Given the description of an element on the screen output the (x, y) to click on. 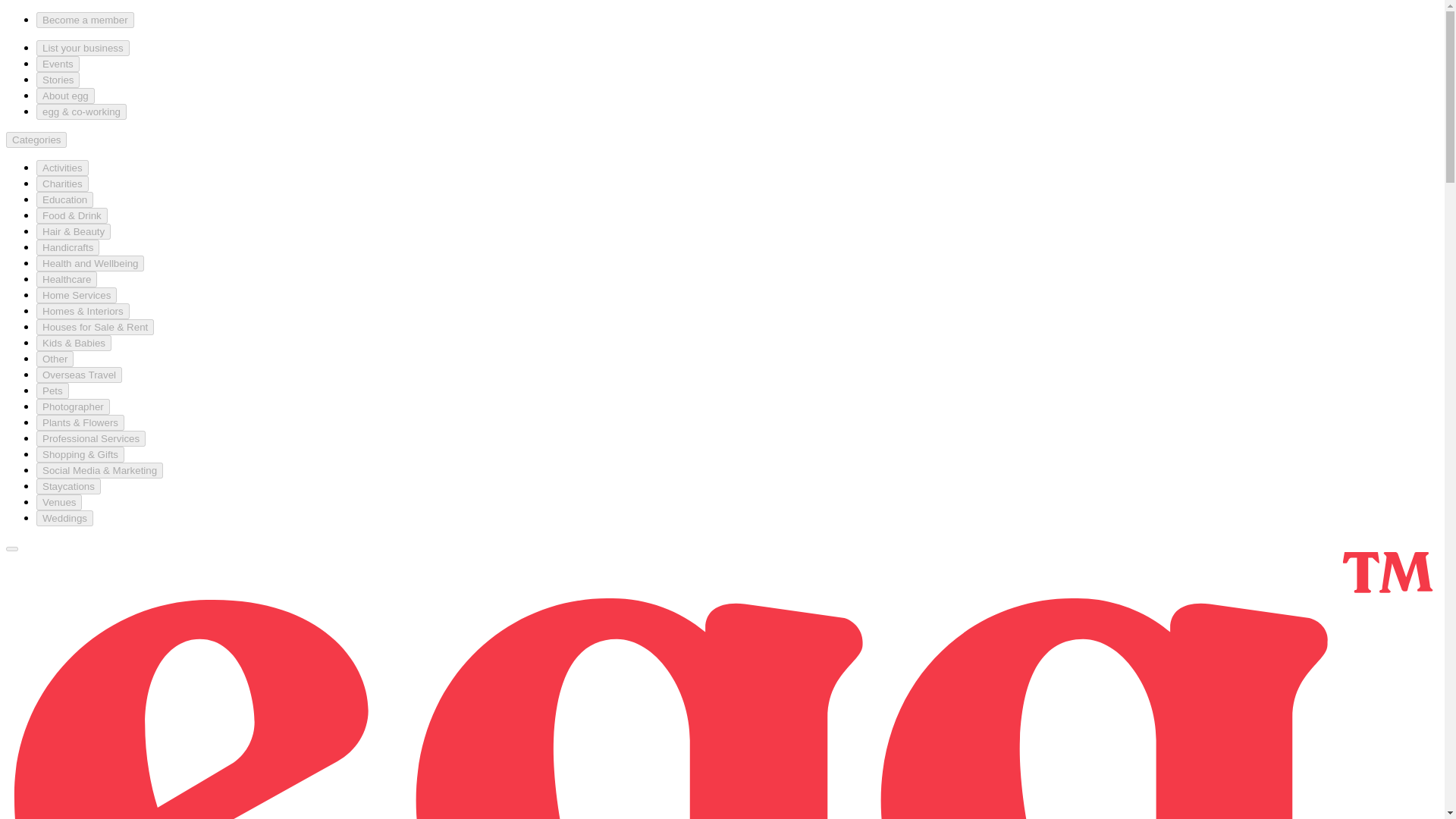
Venues (58, 502)
About egg (65, 95)
Staycations (68, 486)
Categories (35, 139)
Become a member (84, 19)
Events (58, 64)
Education (64, 199)
Stories (58, 79)
Other (55, 358)
Activities (62, 167)
Charities (62, 183)
Overseas Travel (79, 374)
Handicrafts (67, 247)
Health and Wellbeing (90, 263)
Home Services (76, 295)
